Given the description of an element on the screen output the (x, y) to click on. 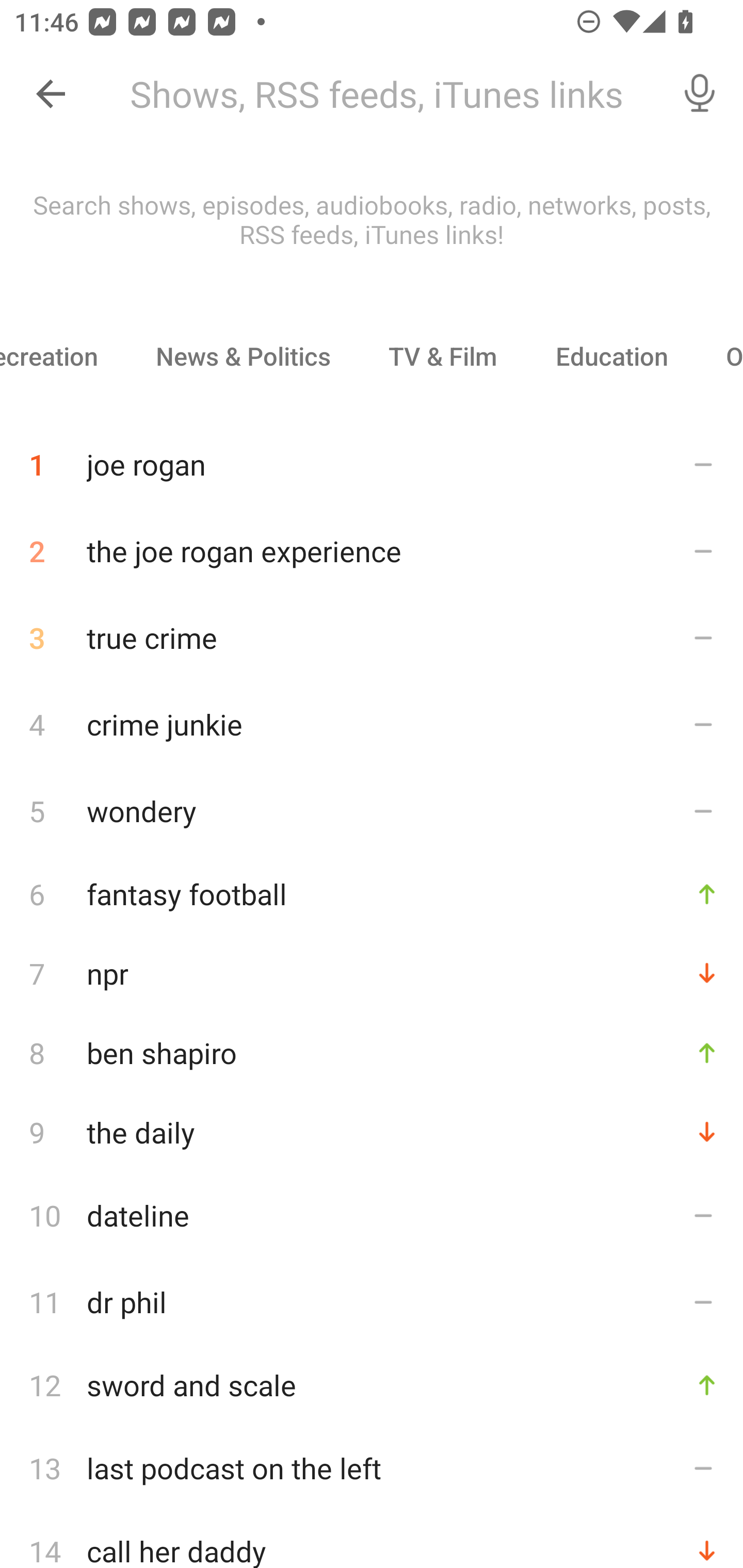
Collapse (50, 93)
Voice Search (699, 93)
Shows, RSS feeds, iTunes links (385, 94)
Sports & Recreation (63, 355)
News & Politics (242, 355)
TV & Film (442, 355)
Education (611, 355)
1 joe rogan (371, 457)
2 the joe rogan experience (371, 551)
3 true crime (371, 637)
4 crime junkie (371, 723)
5 wondery (371, 810)
6 fantasy football (371, 893)
7 npr (371, 972)
8 ben shapiro (371, 1052)
9 the daily (371, 1131)
10 dateline (371, 1215)
11 dr phil (371, 1302)
12 sword and scale (371, 1385)
13 last podcast on the left (371, 1468)
14 call her daddy (371, 1539)
